Given the description of an element on the screen output the (x, y) to click on. 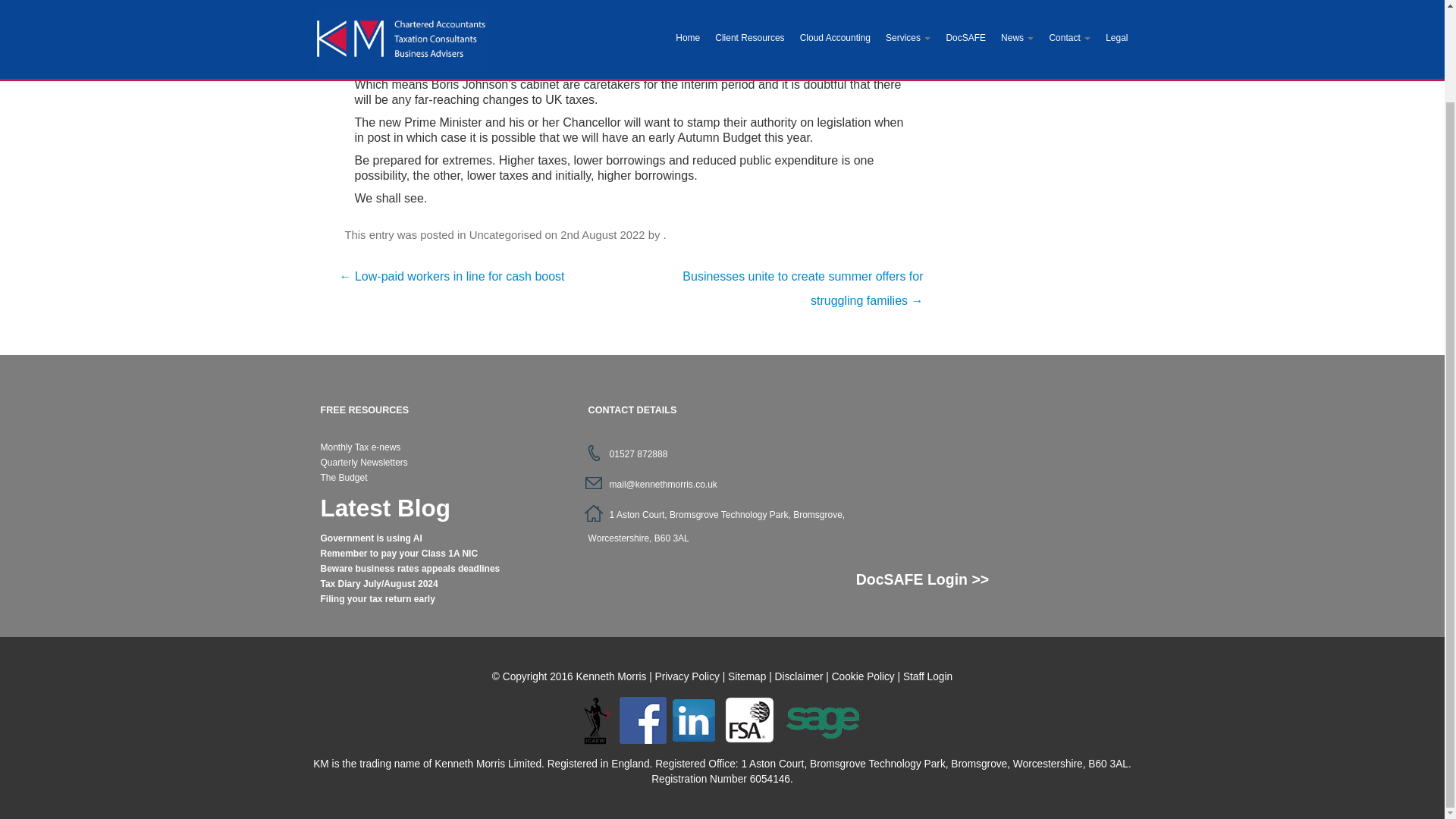
Beware business rates appeals deadlines (409, 568)
Sitemap (746, 676)
Quarterly Newsletters (363, 462)
Monthly Tax e-news (360, 447)
01527 872888 (639, 453)
Privacy Policy (687, 676)
2nd August 2022 (602, 234)
Remember to pay your Class 1A NIC (398, 552)
Staff Login (927, 676)
Filing your tax return early (376, 598)
Cookie Policy (863, 676)
Uncategorised (504, 234)
12:00 am (602, 234)
The Budget (343, 477)
